Given the description of an element on the screen output the (x, y) to click on. 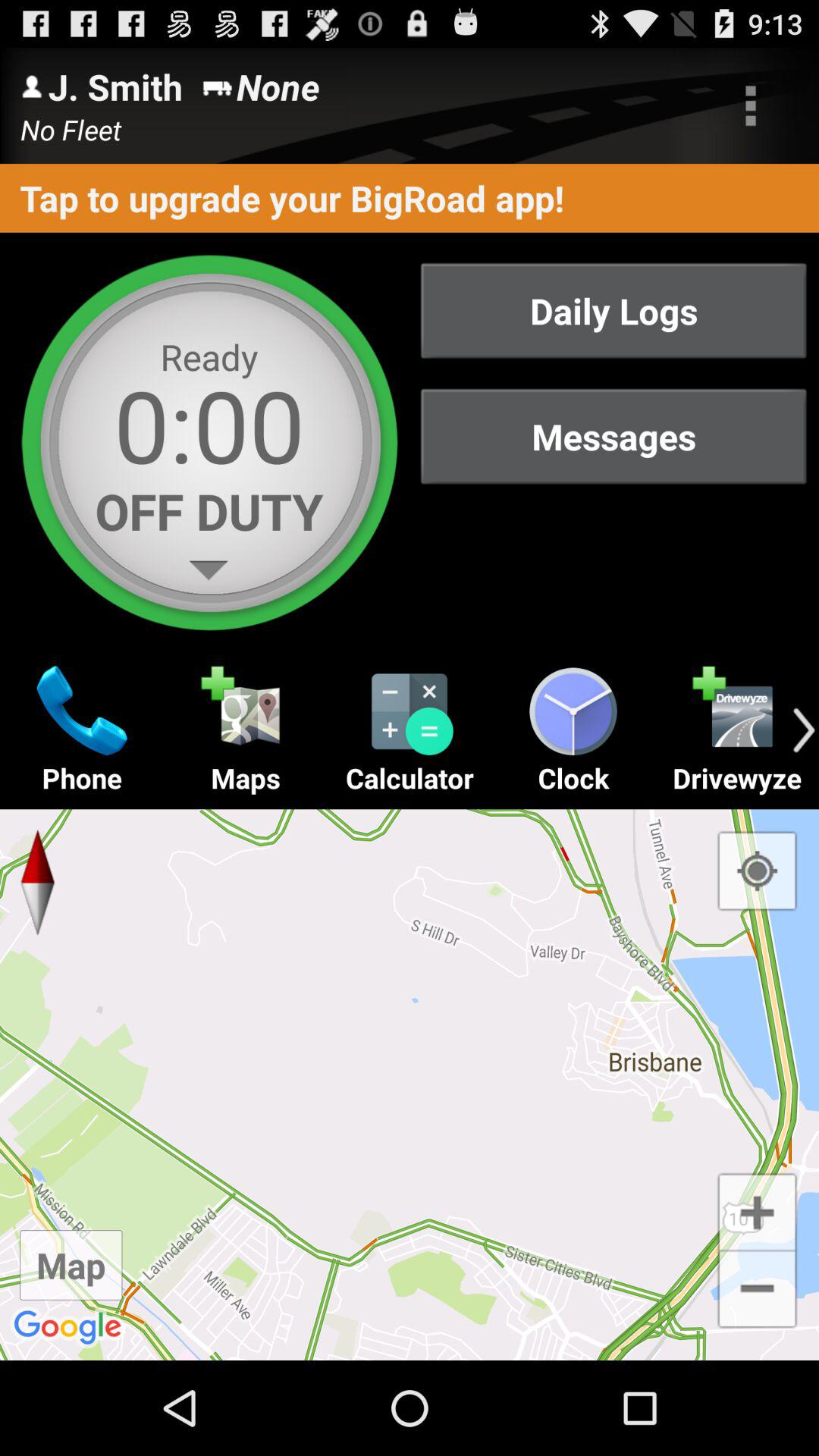
go to add (757, 1210)
